Given the description of an element on the screen output the (x, y) to click on. 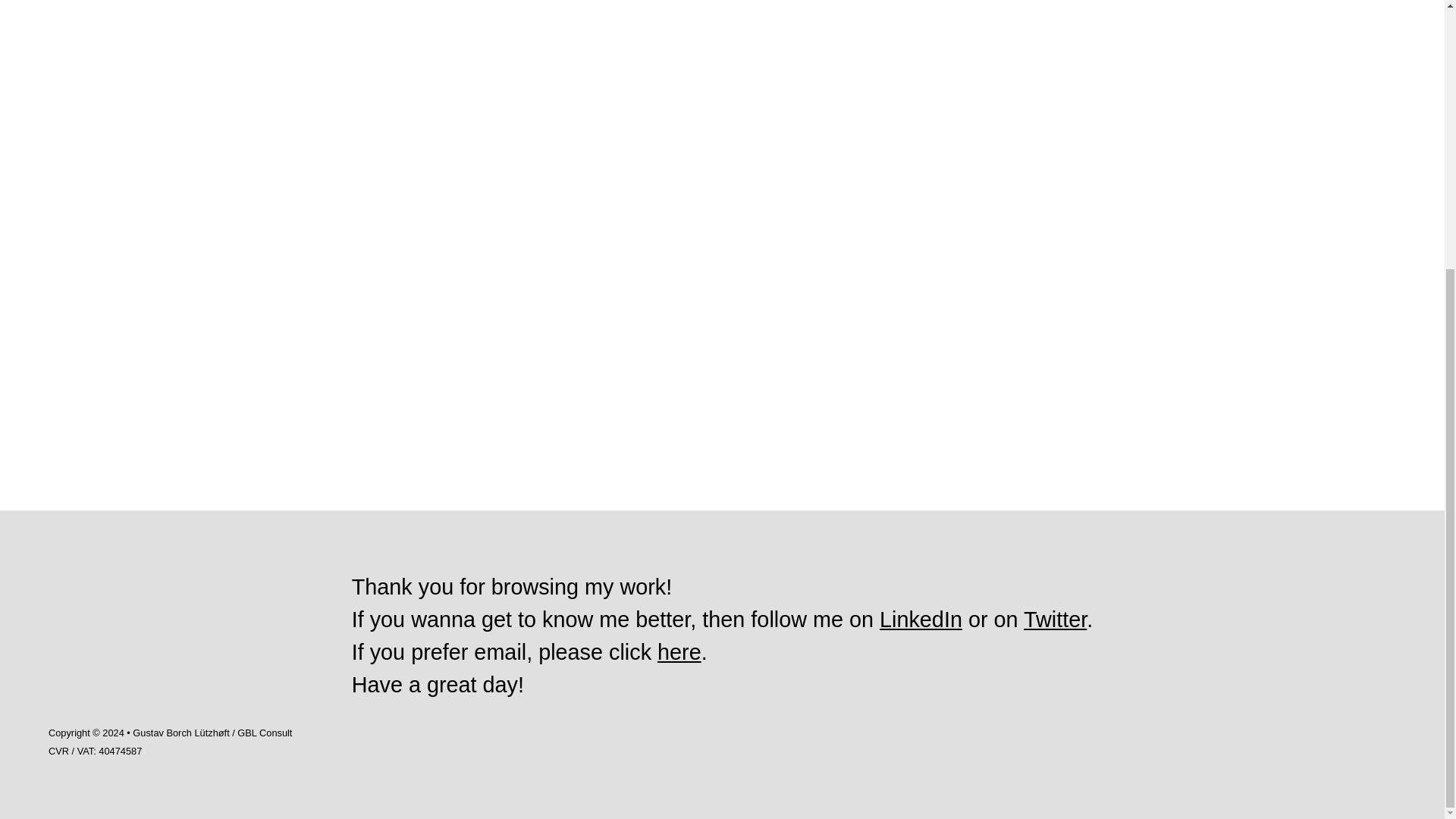
here (679, 651)
LinkedIn (920, 619)
Twitter (1054, 619)
